Given the description of an element on the screen output the (x, y) to click on. 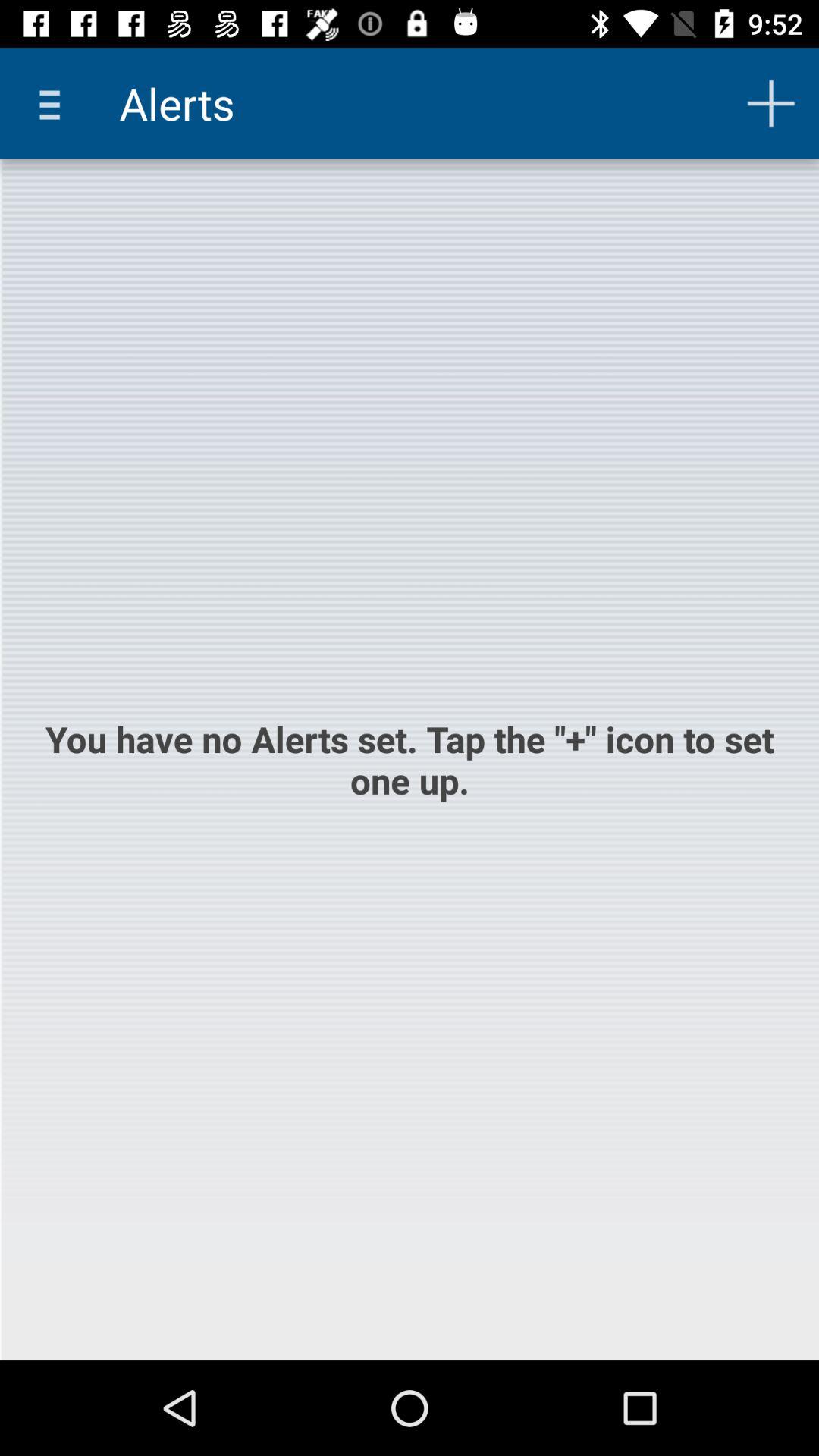
tap the app to the right of alerts item (771, 103)
